Given the description of an element on the screen output the (x, y) to click on. 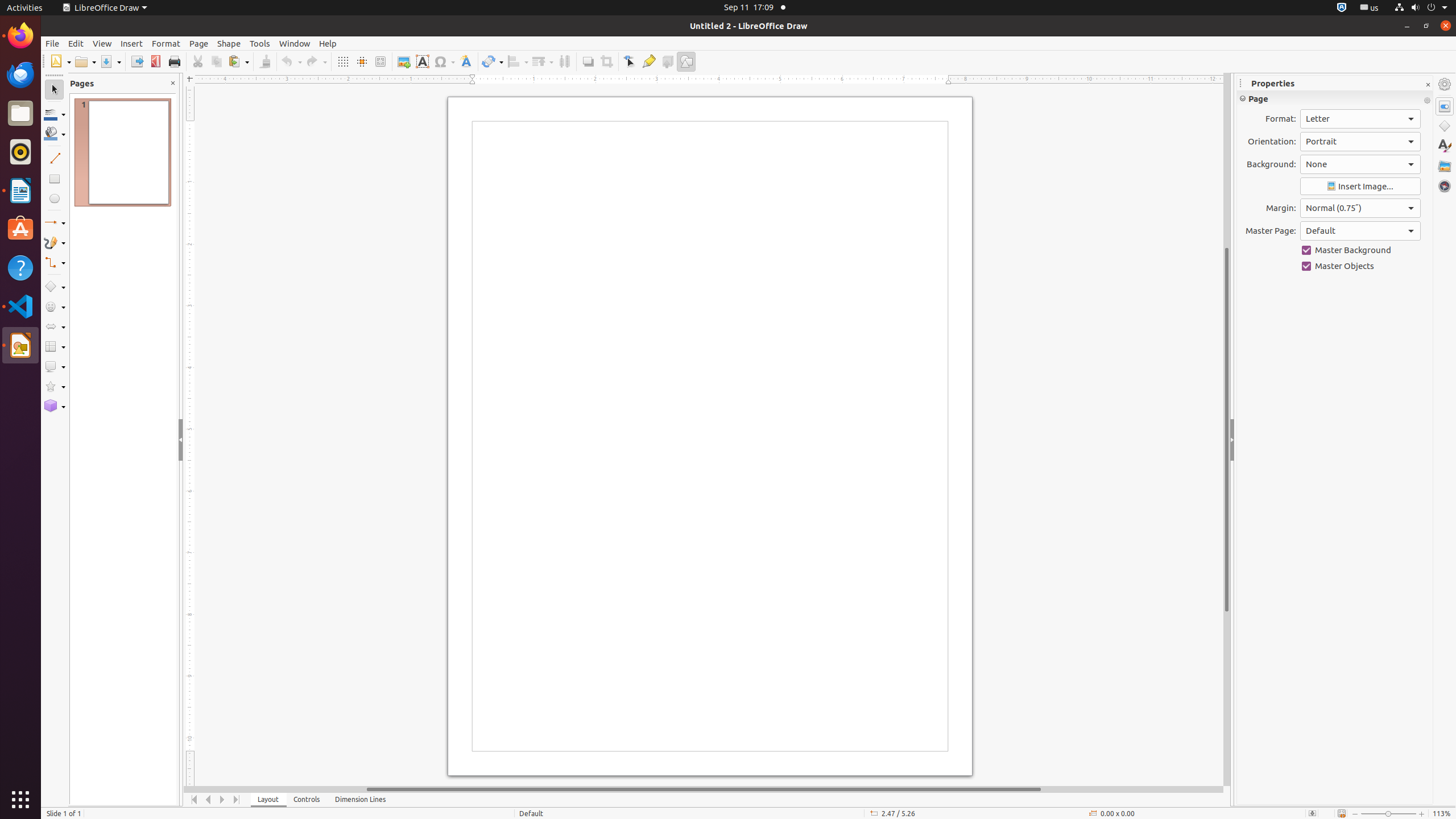
Print Element type: push-button (173, 61)
Properties Element type: radio-button (1444, 106)
:1.21/StatusNotifierItem Element type: menu (1369, 7)
Paste Element type: push-button (237, 61)
Ellipse Element type: push-button (53, 198)
